Given the description of an element on the screen output the (x, y) to click on. 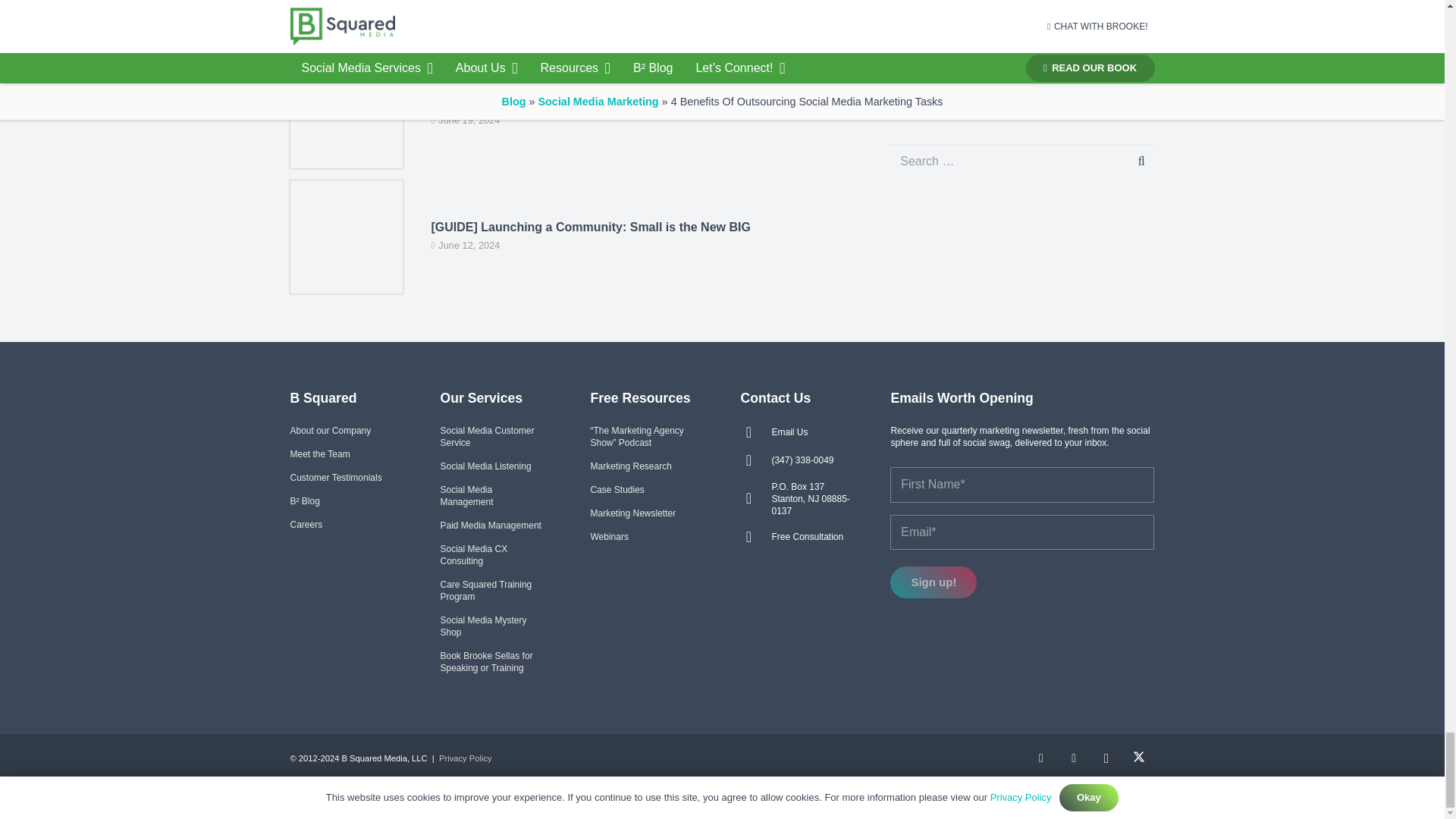
Sign up! (932, 582)
LinkedIn (1041, 757)
Free Consultation (755, 537)
Contact Us (801, 460)
YouTube (1073, 757)
Contact Us (755, 432)
Contact Us (755, 460)
Contact Us (789, 431)
Twitter (1139, 757)
Free Consultation (807, 536)
Instagram (1105, 757)
